Given the description of an element on the screen output the (x, y) to click on. 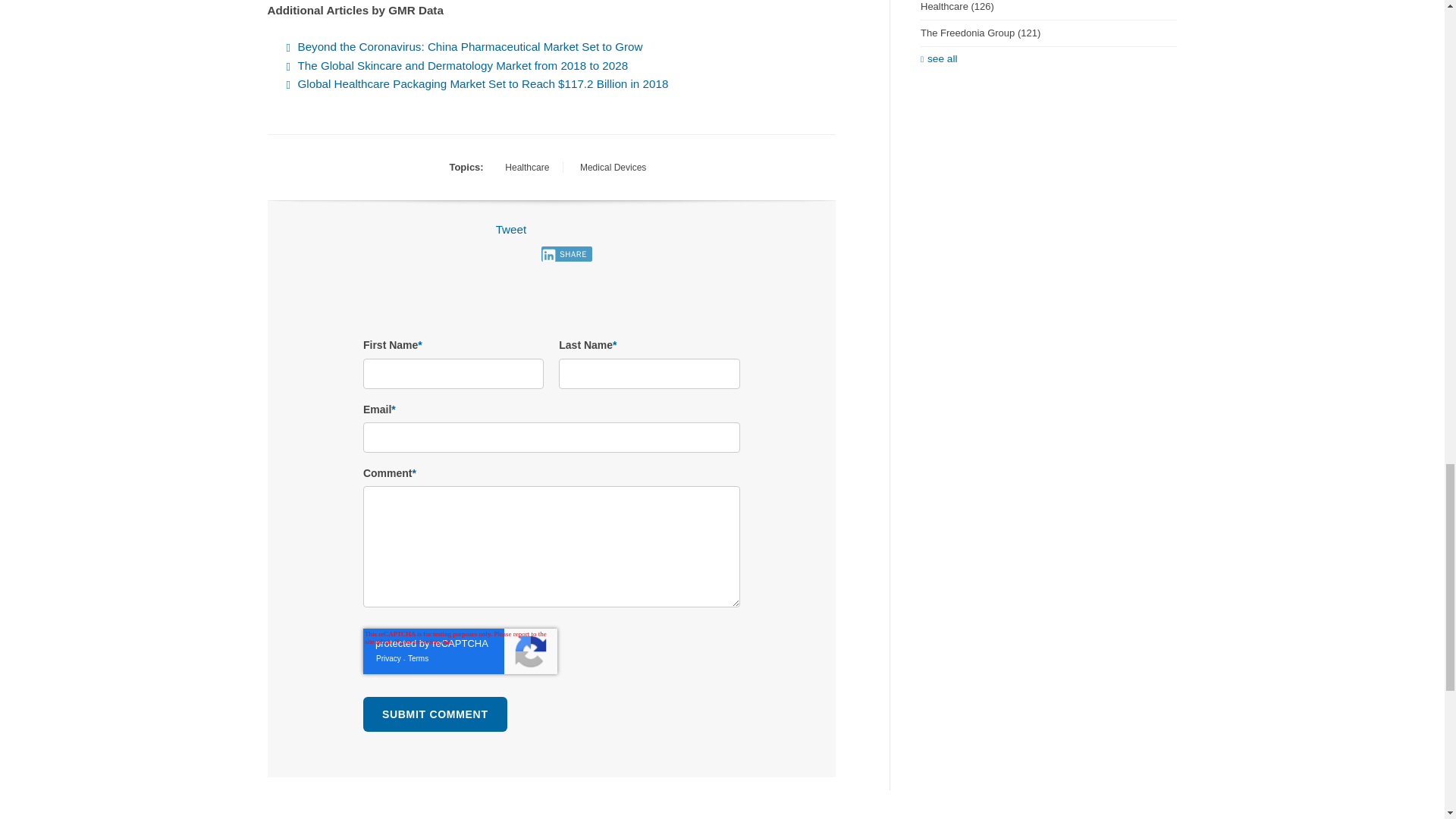
The Global Skincare and Dermatology Market from 2018 to 2028 (462, 65)
Submit Comment (434, 714)
Tweet (511, 228)
Submit Comment (434, 714)
Medical Devices (612, 167)
SHARE (566, 253)
Healthcare (526, 167)
reCAPTCHA (459, 651)
